Given the description of an element on the screen output the (x, y) to click on. 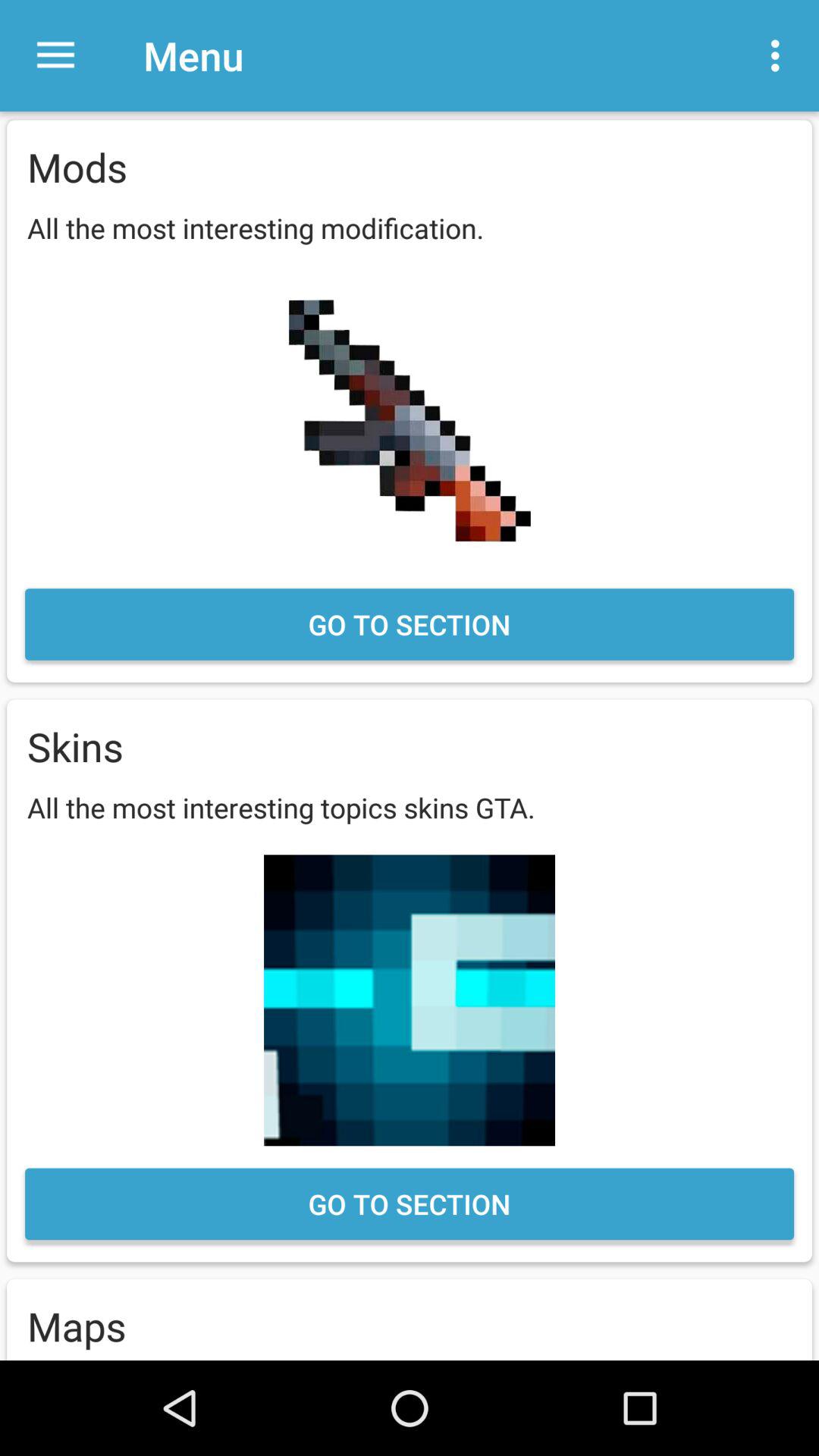
select the item above the mods item (55, 55)
